Given the description of an element on the screen output the (x, y) to click on. 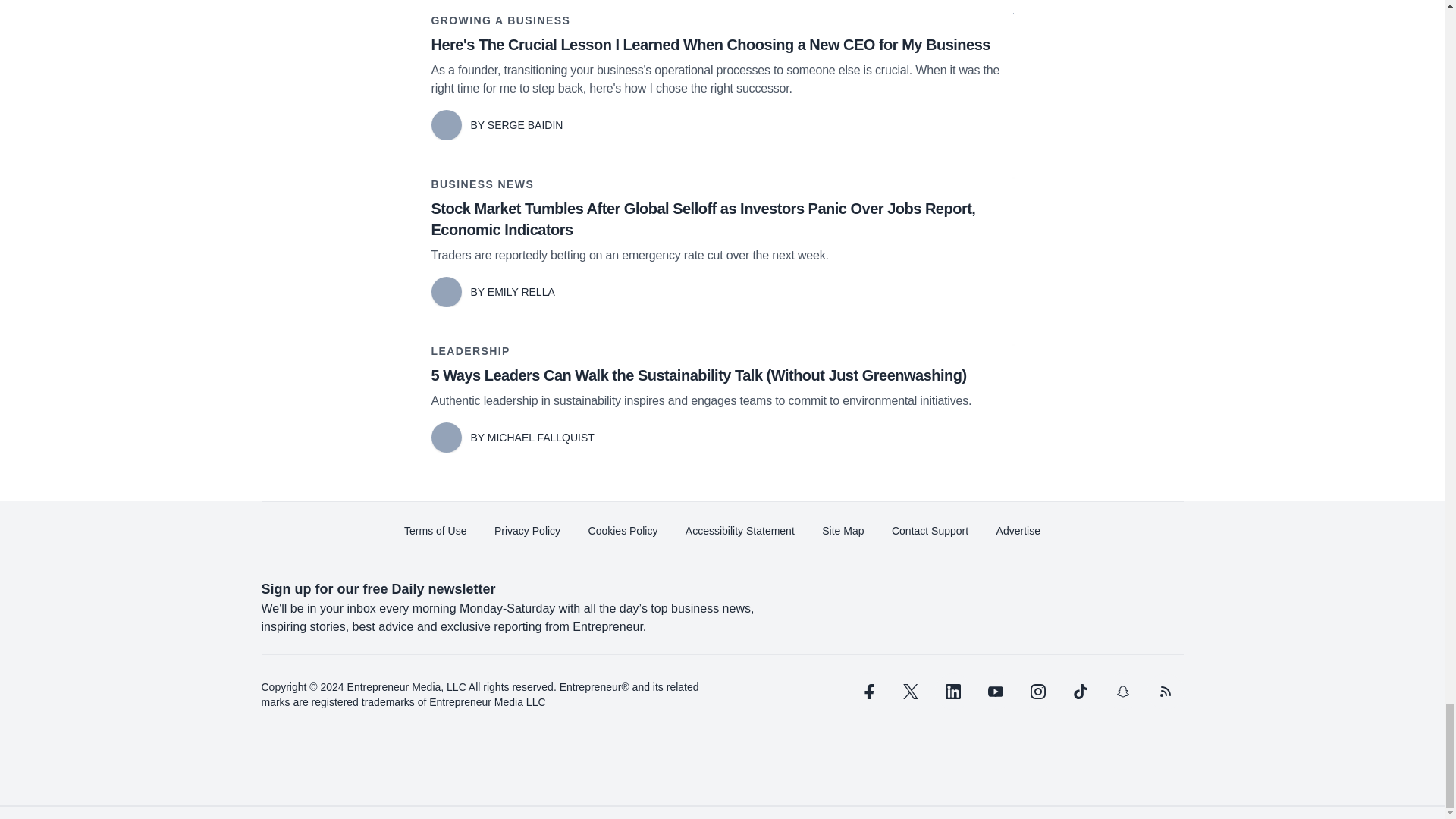
youtube (994, 691)
instagram (1037, 691)
snapchat (1121, 691)
tiktok (1079, 691)
facebook (866, 691)
linkedin (952, 691)
twitter (909, 691)
